Given the description of an element on the screen output the (x, y) to click on. 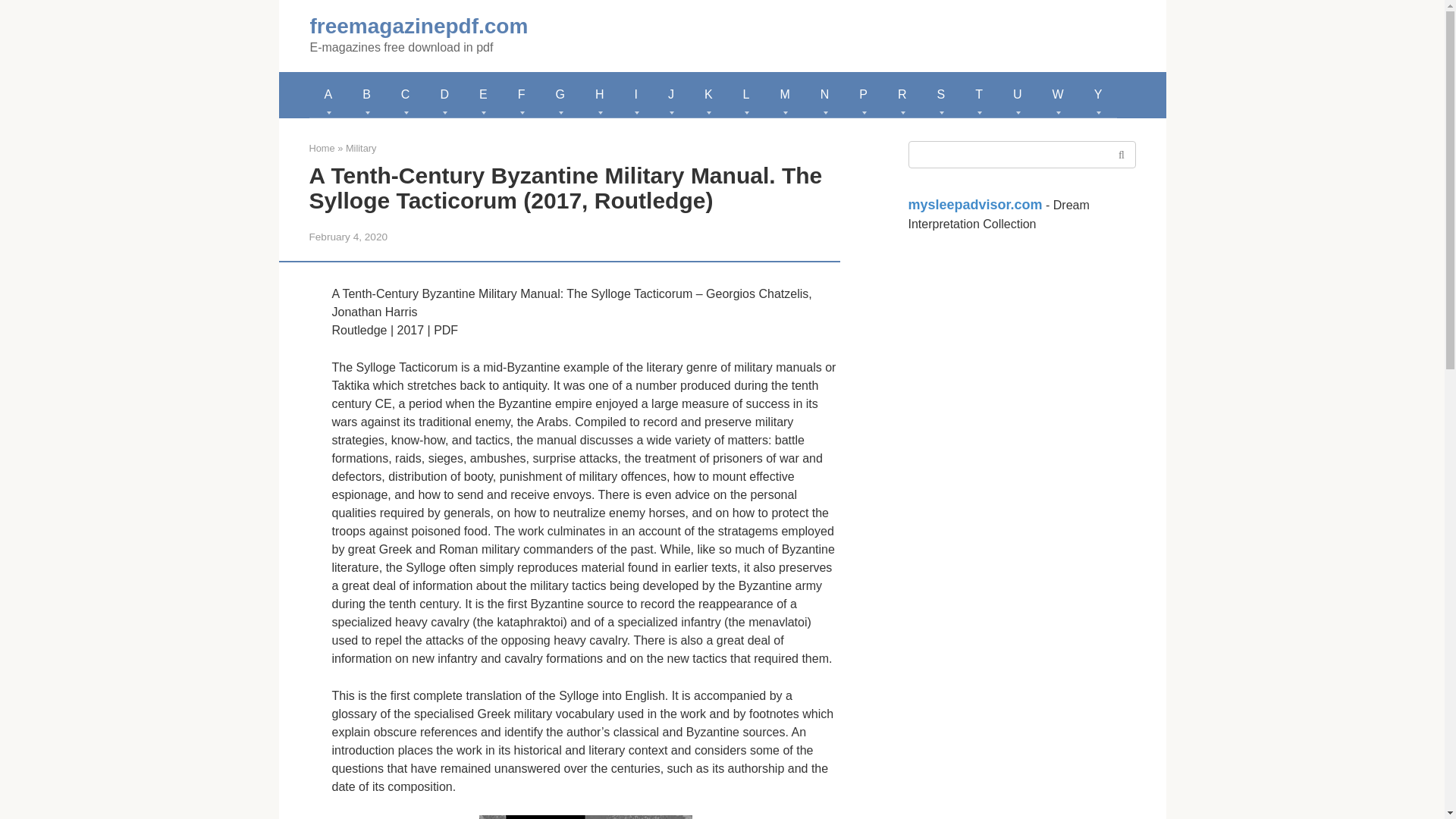
freemagazinepdf.com (417, 25)
